Given the description of an element on the screen output the (x, y) to click on. 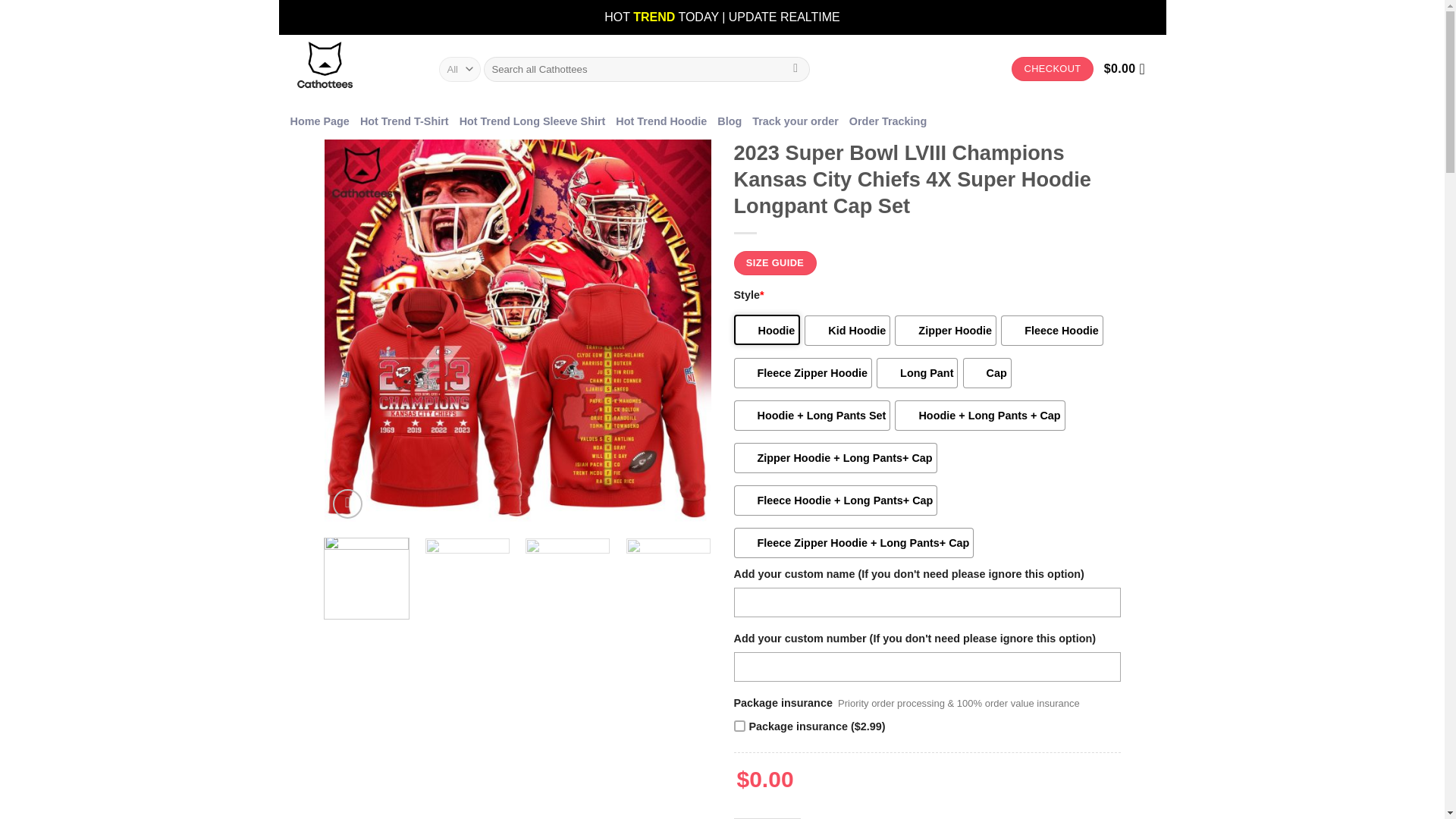
Hot Trend Long Sleeve Shirt (532, 121)
Hot Trend Hoodie (660, 121)
Blog (729, 121)
Hoodie (766, 329)
Search (795, 68)
SIZE GUIDE (774, 263)
Zoom (347, 503)
Track your order (795, 121)
Hot Trend T-Shirt (403, 121)
Cathottees - Products fast manufacturing and shipping (351, 69)
Home Page (319, 121)
